Given the description of an element on the screen output the (x, y) to click on. 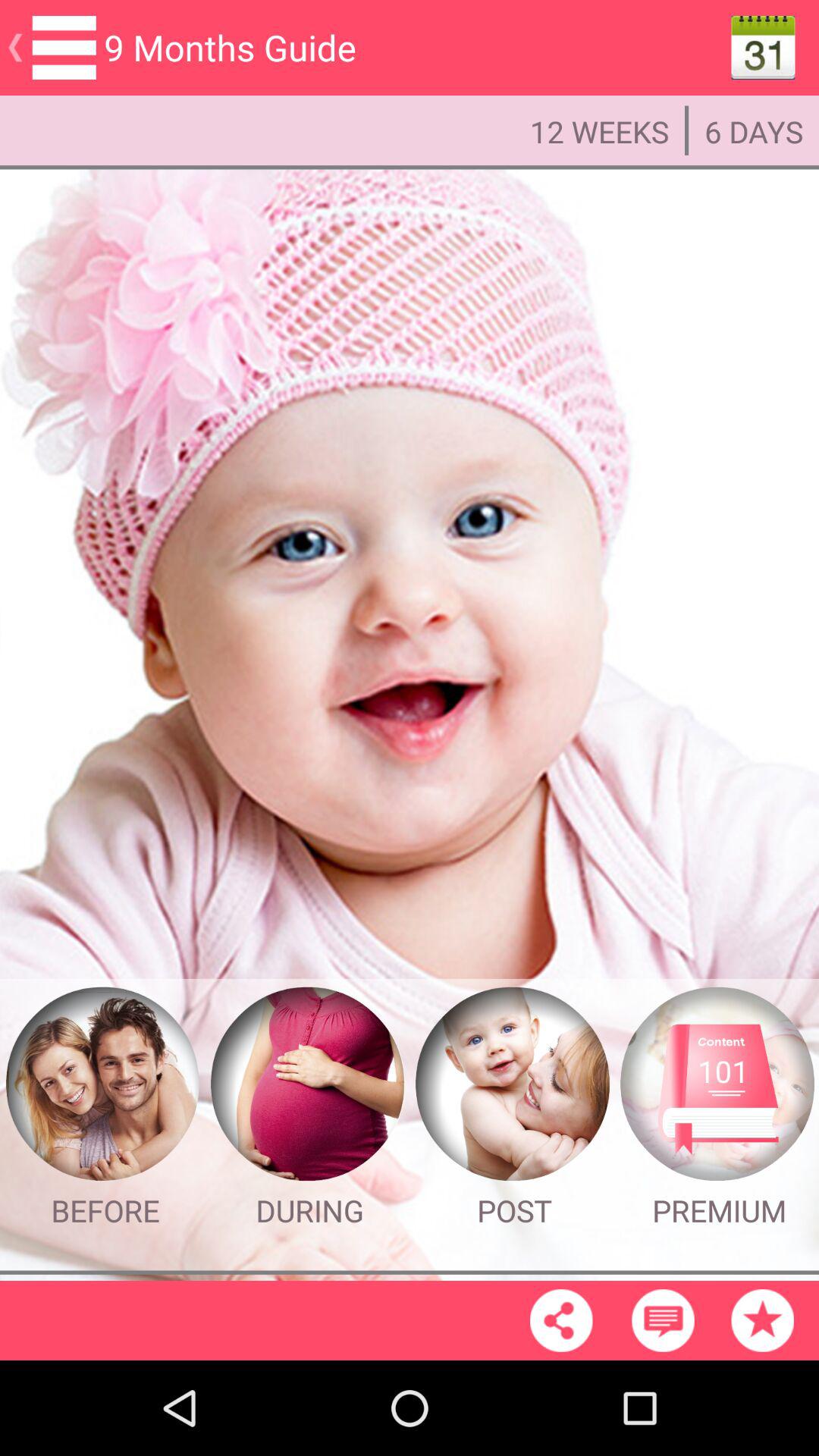
message (662, 1320)
